Given the description of an element on the screen output the (x, y) to click on. 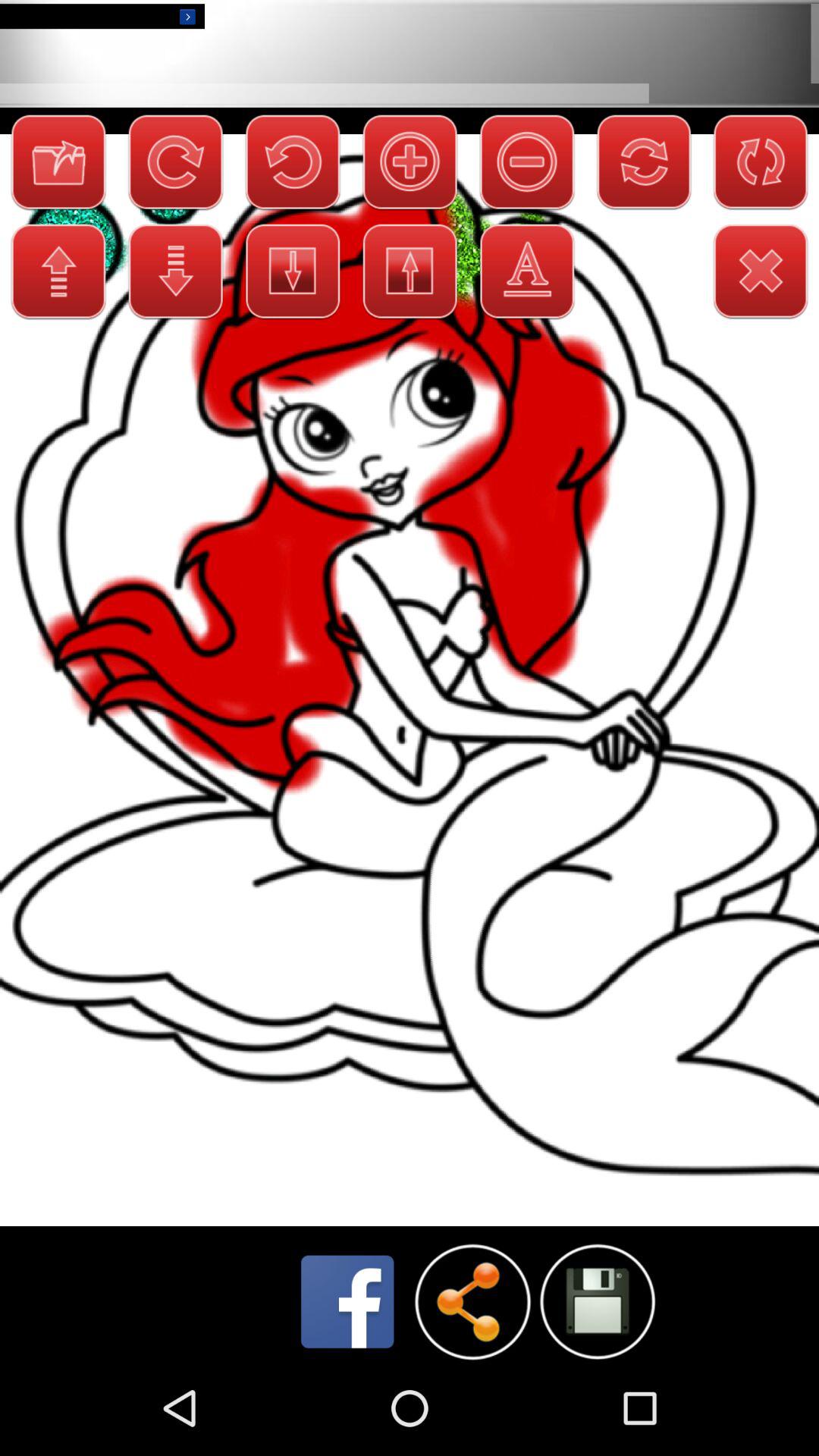
share icon (472, 1301)
